Given the description of an element on the screen output the (x, y) to click on. 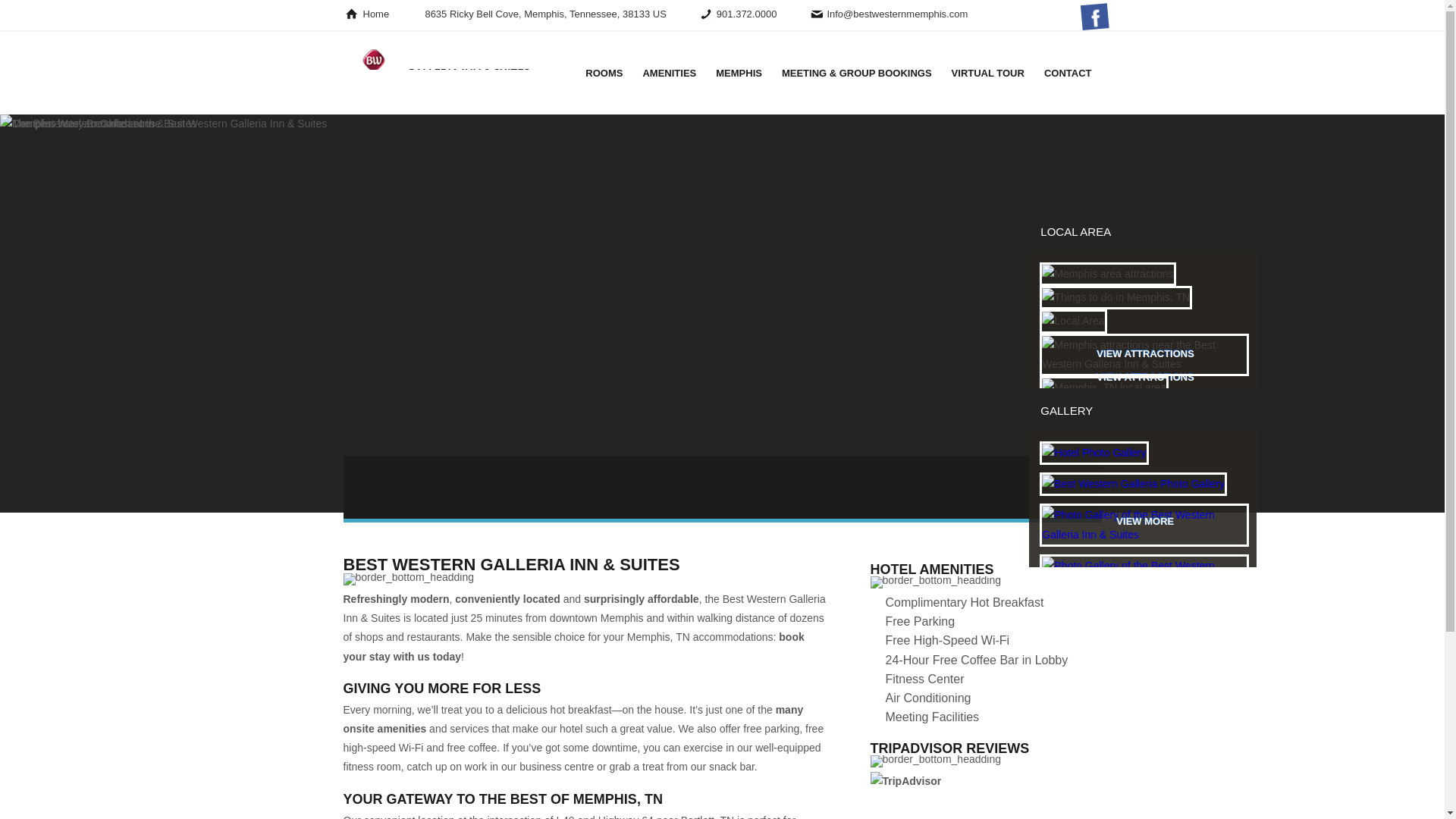
Home (375, 13)
VIRTUAL TOUR (988, 70)
901.372.0000 (746, 13)
VIEW ATTRACTIONS (1144, 400)
VIEW ATTRACTIONS (1144, 354)
VIEW ATTRACTIONS (1144, 377)
